Given the description of an element on the screen output the (x, y) to click on. 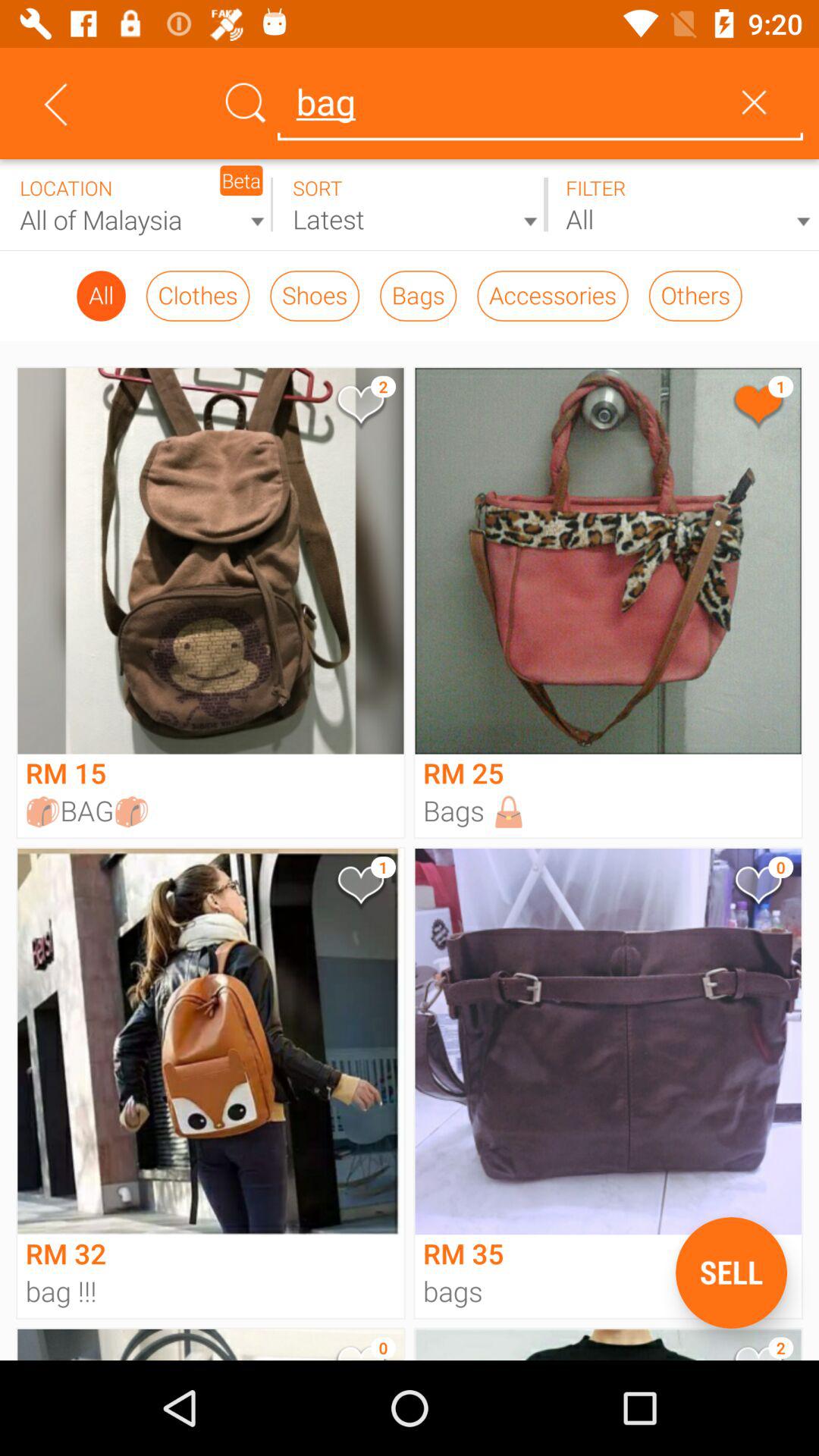
edit location of products (136, 204)
